Given the description of an element on the screen output the (x, y) to click on. 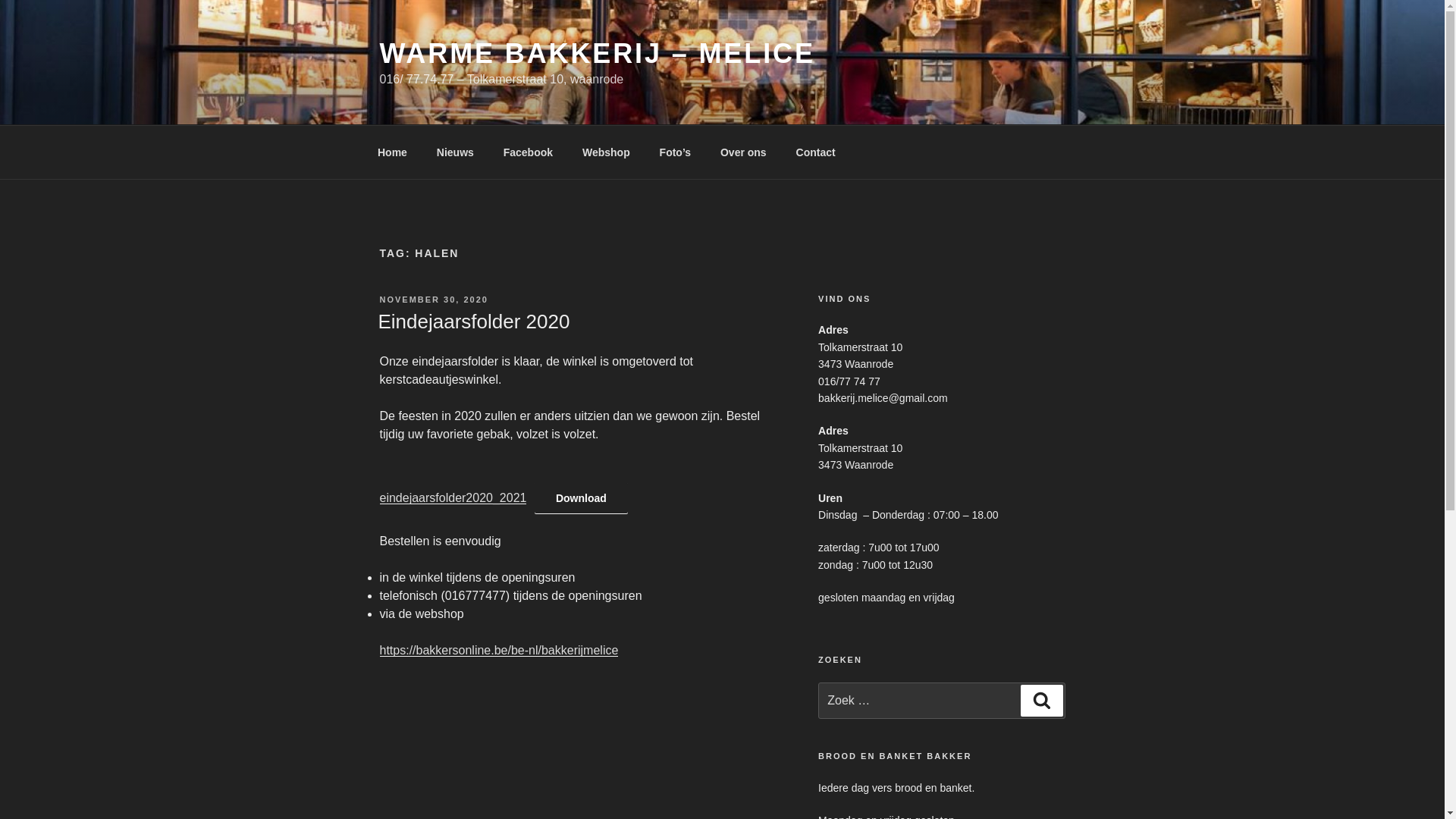
eindejaarsfolder2020_2021 Element type: text (452, 497)
Over ons Element type: text (742, 151)
Facebook Element type: text (527, 151)
NOVEMBER 30, 2020 Element type: text (433, 299)
Eindejaarsfolder 2020 Element type: text (473, 321)
Spring naar de inhoud Element type: text (0, 0)
Nieuws Element type: text (454, 151)
Webshop Element type: text (605, 151)
Contact Element type: text (815, 151)
https://bakkersonline.be/be-nl/bakkerijmelice Element type: text (498, 649)
Home Element type: text (392, 151)
Download Element type: text (580, 498)
Zoek Element type: text (1041, 700)
